Given the description of an element on the screen output the (x, y) to click on. 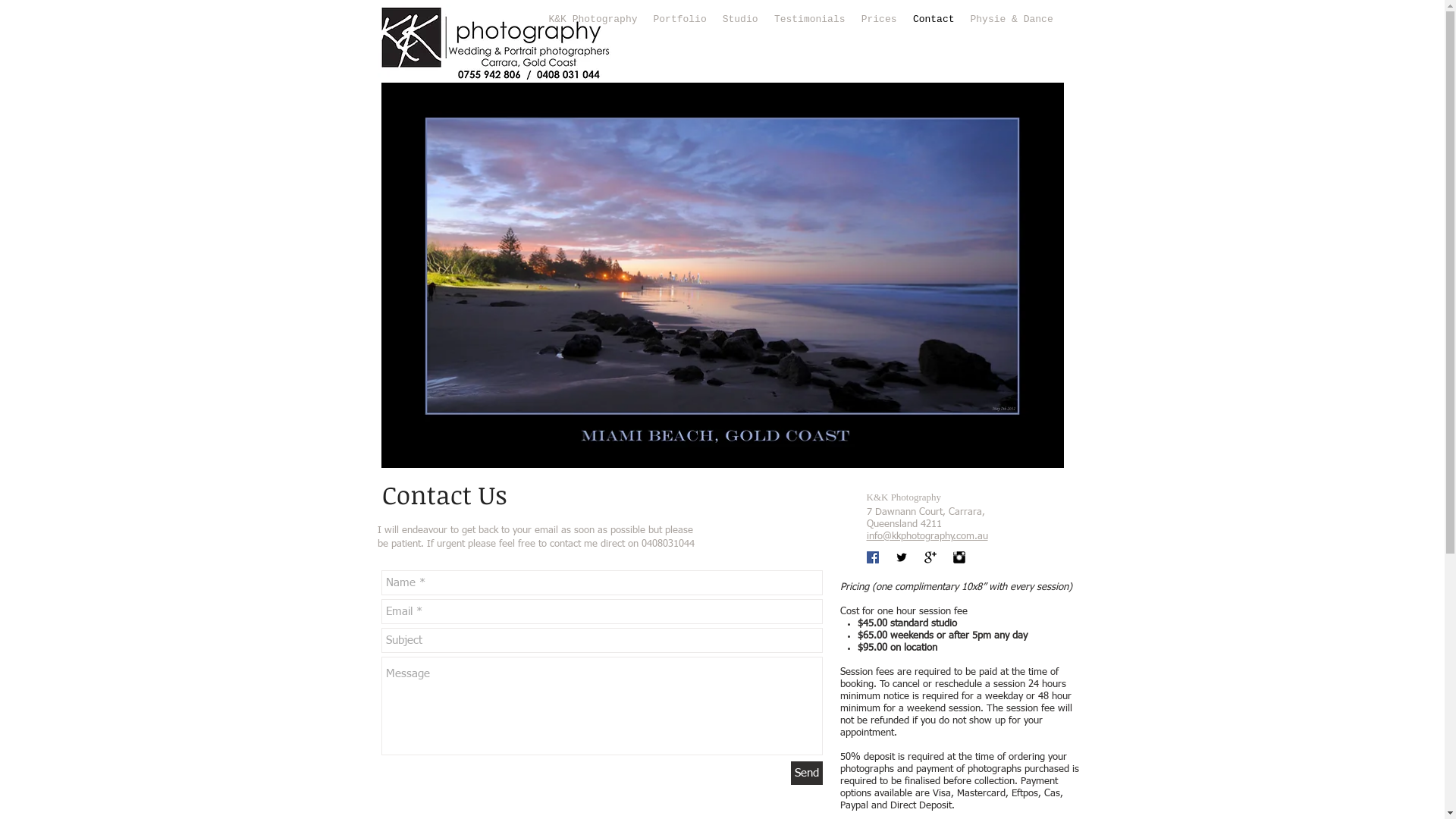
Send Element type: text (806, 772)
Prices Element type: text (878, 18)
Testimonials Element type: text (808, 18)
K&K Photography Element type: text (593, 18)
Physie & Dance Element type: text (1011, 18)
info@kkphotography.com.au Element type: text (926, 536)
Contact Element type: text (933, 18)
Studio Element type: text (739, 18)
Portfolio Element type: text (680, 18)
